Given the description of an element on the screen output the (x, y) to click on. 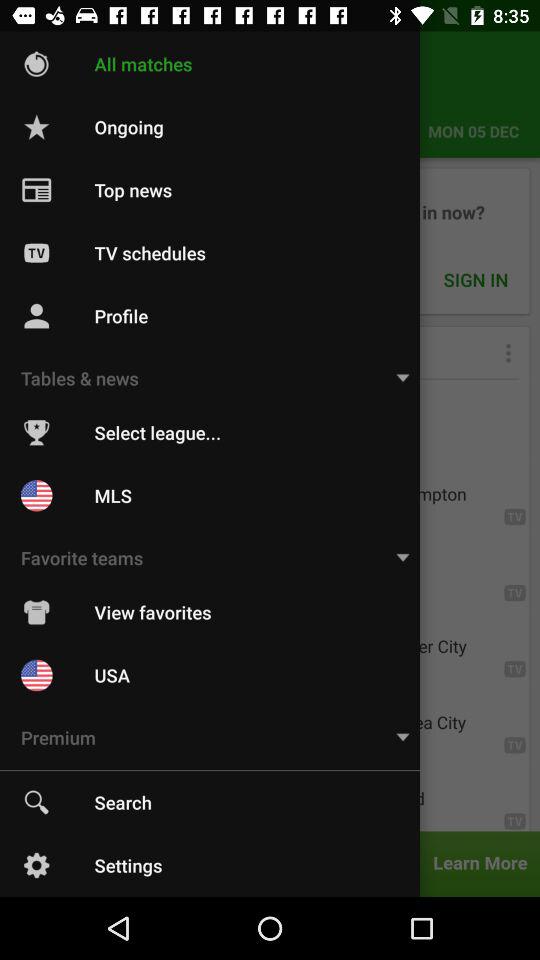
click on tv icon (36, 252)
select the flag beside mls (36, 495)
click on the option tv schedules (269, 240)
